Given the description of an element on the screen output the (x, y) to click on. 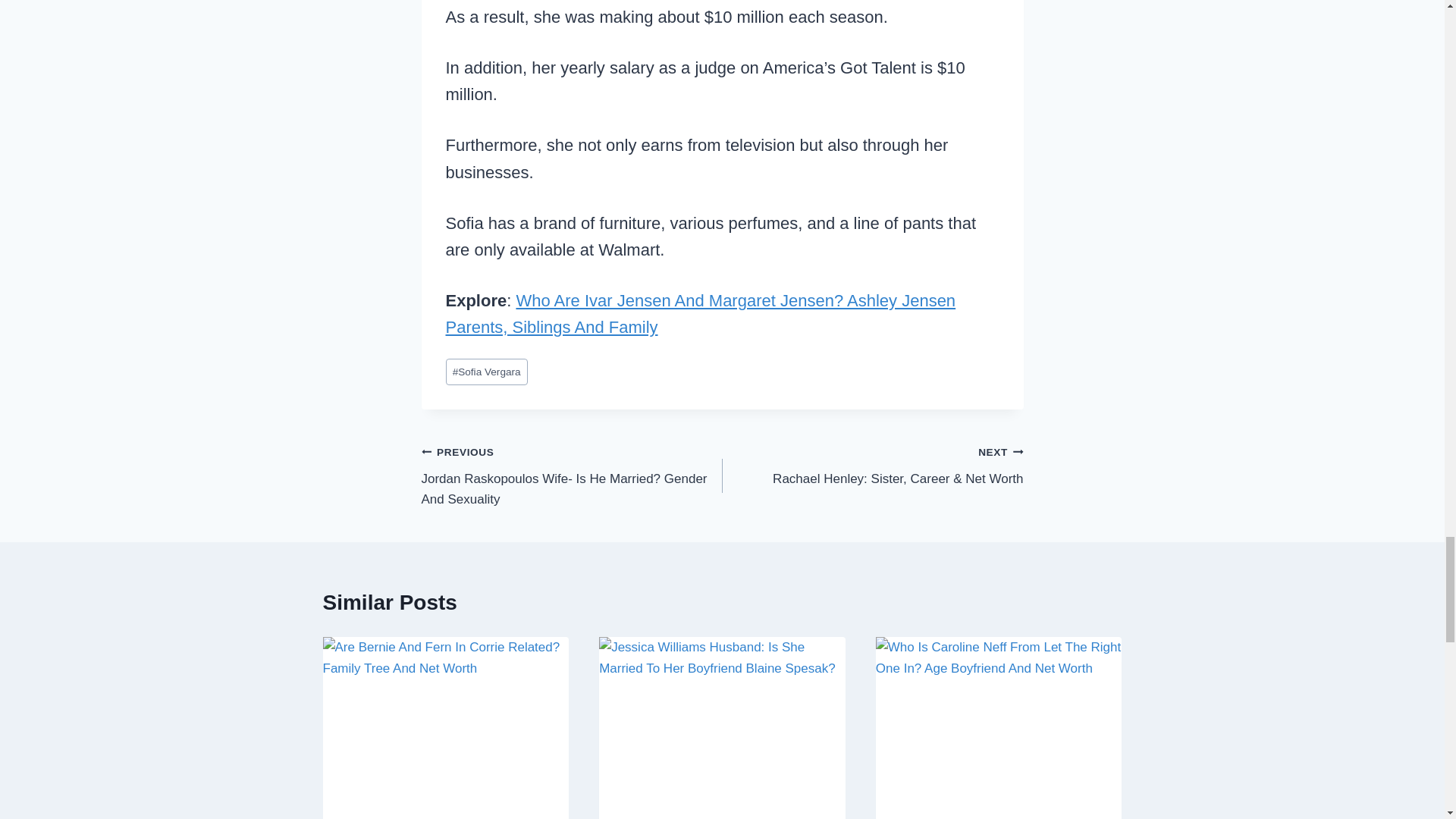
Sofia Vergara (486, 371)
